Given the description of an element on the screen output the (x, y) to click on. 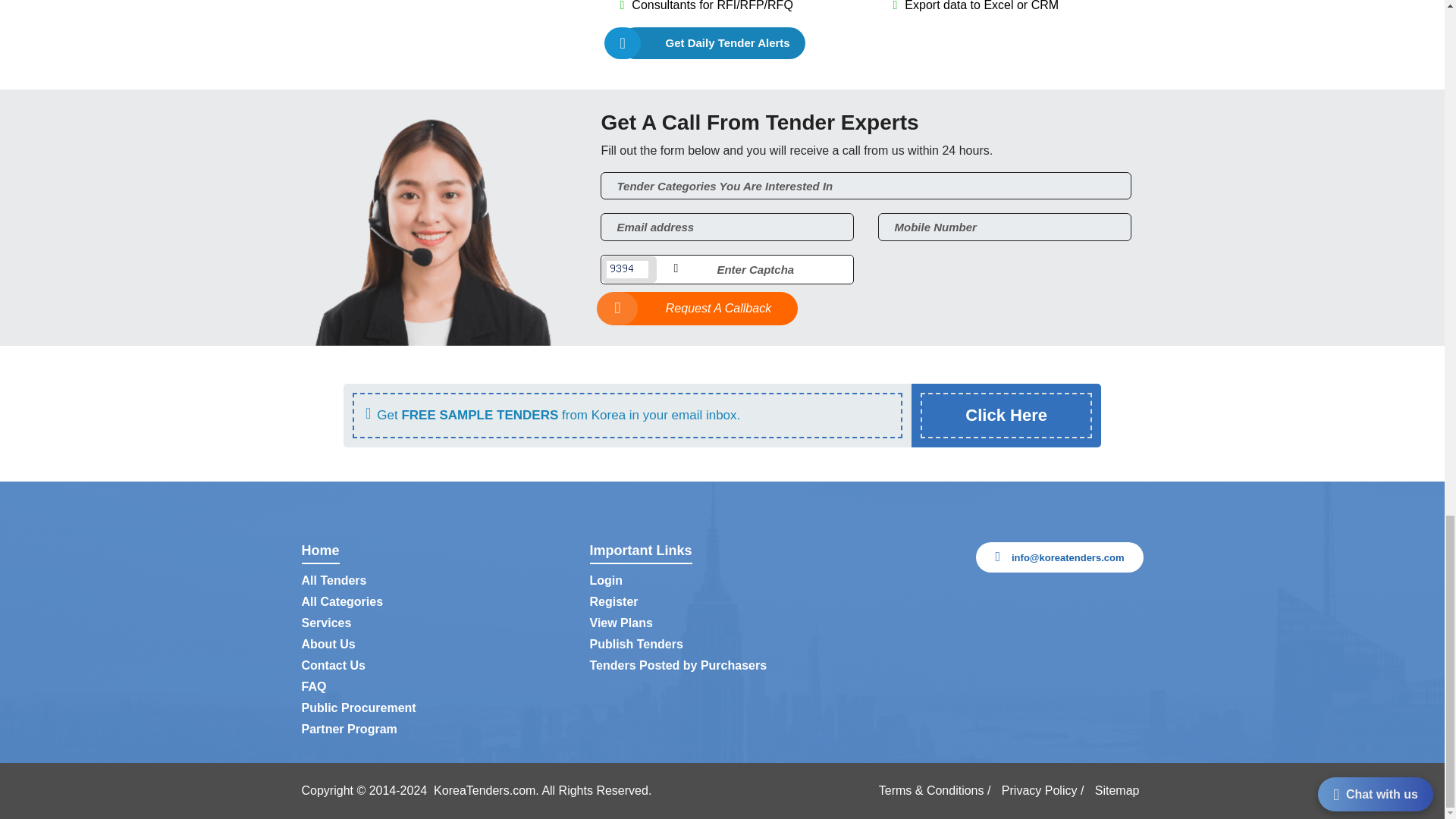
Get Daily Tender Alerts (712, 43)
All Categories (342, 601)
Request A Callback (698, 308)
Services (326, 622)
Click Here (1006, 415)
All Tenders (333, 580)
